Given the description of an element on the screen output the (x, y) to click on. 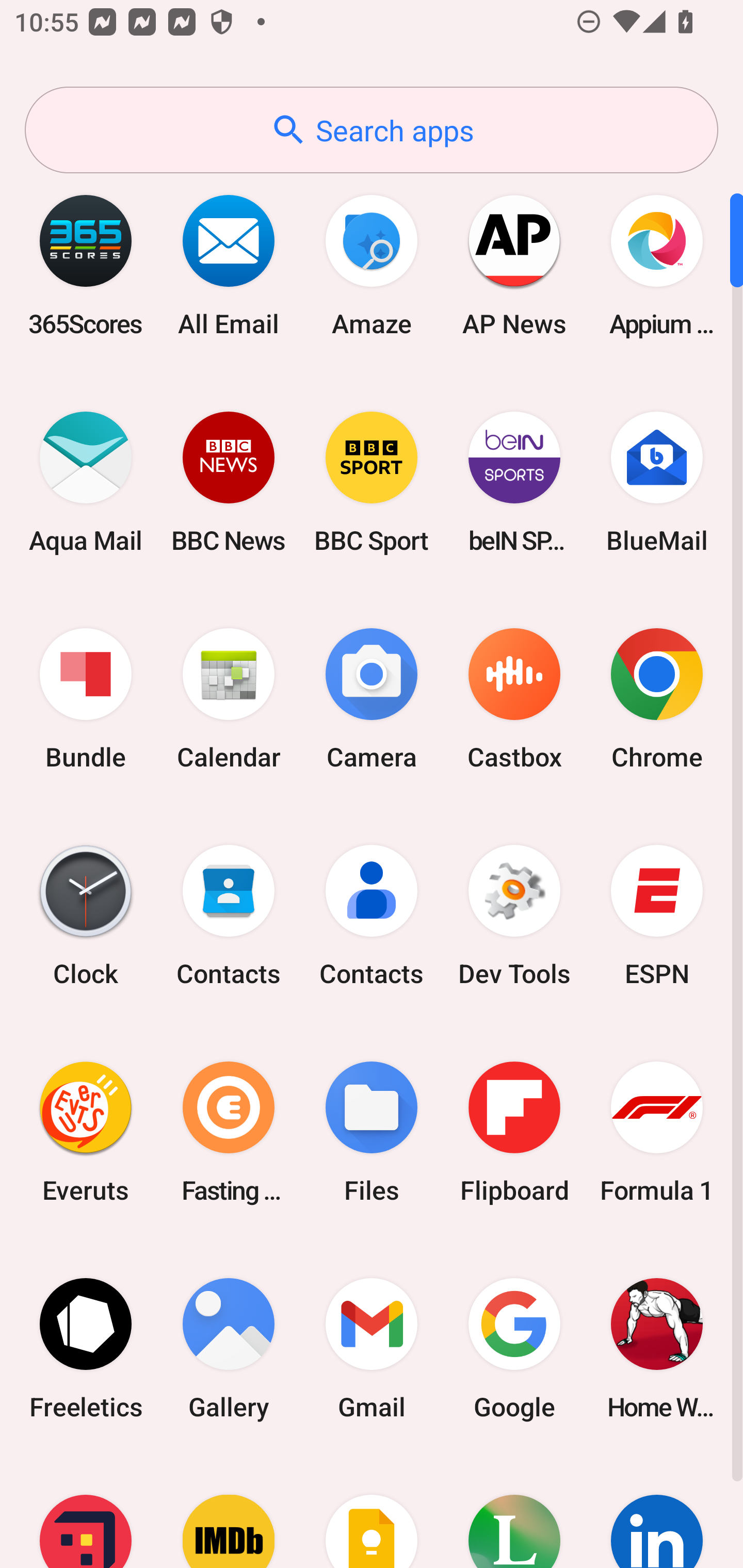
  Search apps (371, 130)
365Scores (85, 264)
All Email (228, 264)
Amaze (371, 264)
AP News (514, 264)
Appium Settings (656, 264)
Aqua Mail (85, 482)
BBC News (228, 482)
BBC Sport (371, 482)
beIN SPORTS (514, 482)
BlueMail (656, 482)
Bundle (85, 699)
Calendar (228, 699)
Camera (371, 699)
Castbox (514, 699)
Chrome (656, 699)
Clock (85, 915)
Contacts (228, 915)
Contacts (371, 915)
Dev Tools (514, 915)
ESPN (656, 915)
Everuts (85, 1131)
Fasting Coach (228, 1131)
Files (371, 1131)
Flipboard (514, 1131)
Formula 1 (656, 1131)
Freeletics (85, 1348)
Gallery (228, 1348)
Gmail (371, 1348)
Google (514, 1348)
Home Workout (656, 1348)
Hotels.com (85, 1512)
IMDb (228, 1512)
Keep Notes (371, 1512)
Lifesum (514, 1512)
LinkedIn (656, 1512)
